Given the description of an element on the screen output the (x, y) to click on. 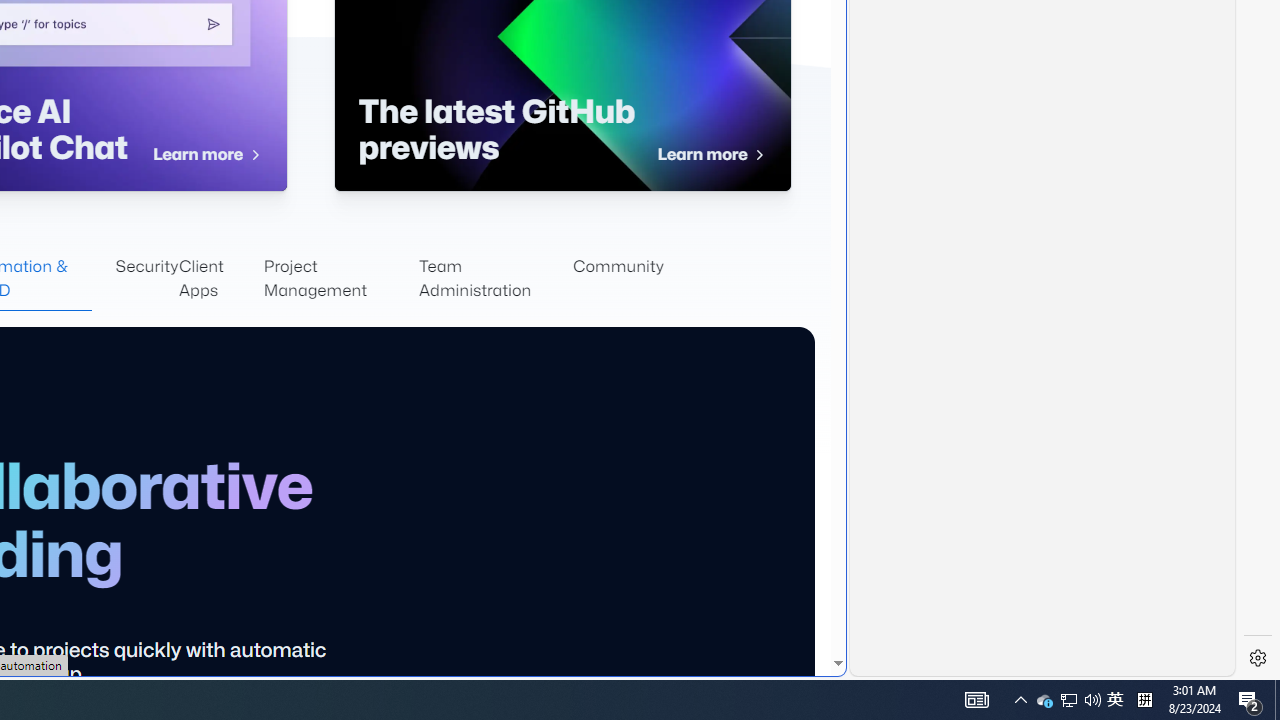
Security (147, 278)
Team Administration (495, 278)
Project Management (340, 278)
Class: octicon arrow-symbol-mktg octicon (758, 155)
Client Apps (220, 278)
Community (618, 278)
